Given the description of an element on the screen output the (x, y) to click on. 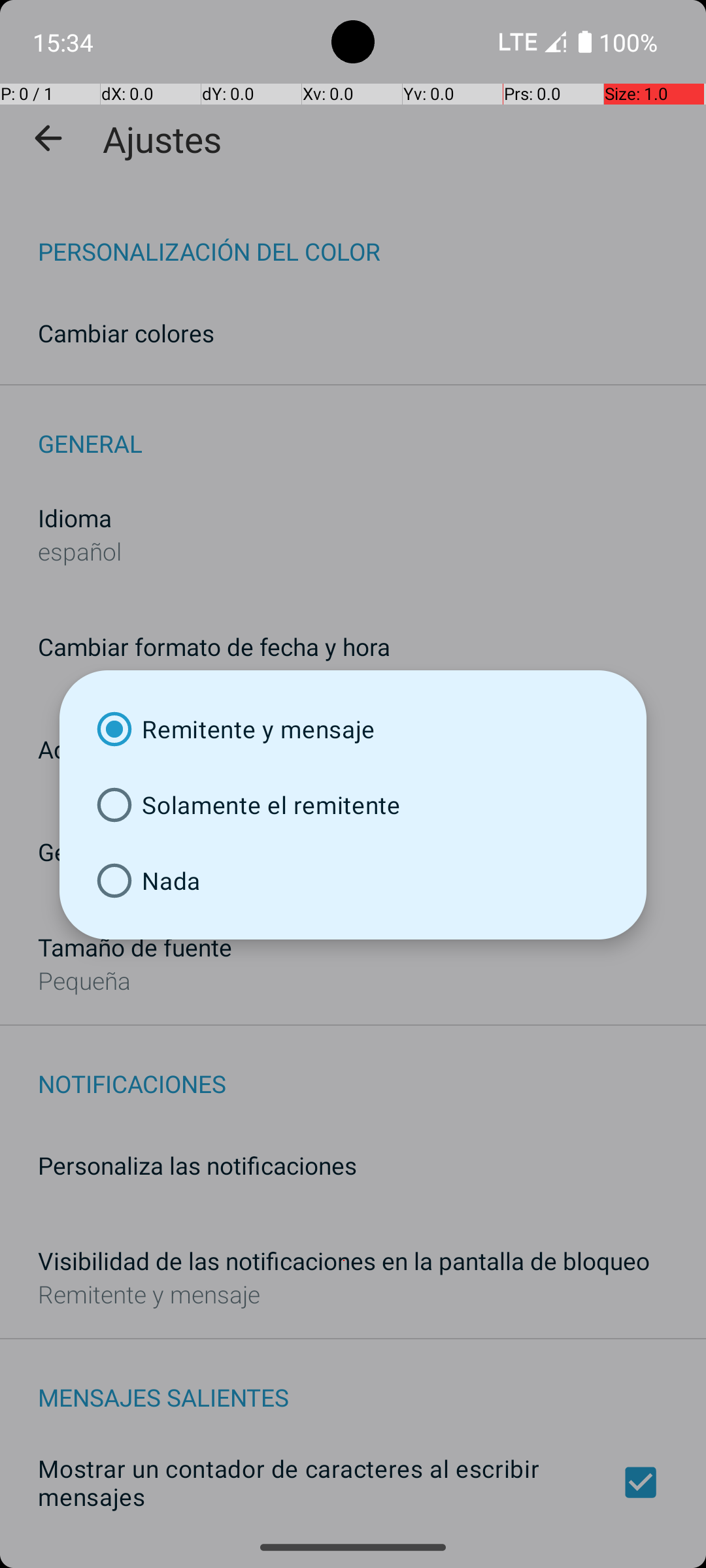
Remitente y mensaje Element type: android.widget.RadioButton (352, 729)
Solamente el remitente Element type: android.widget.RadioButton (352, 804)
Nada Element type: android.widget.RadioButton (352, 880)
